Given the description of an element on the screen output the (x, y) to click on. 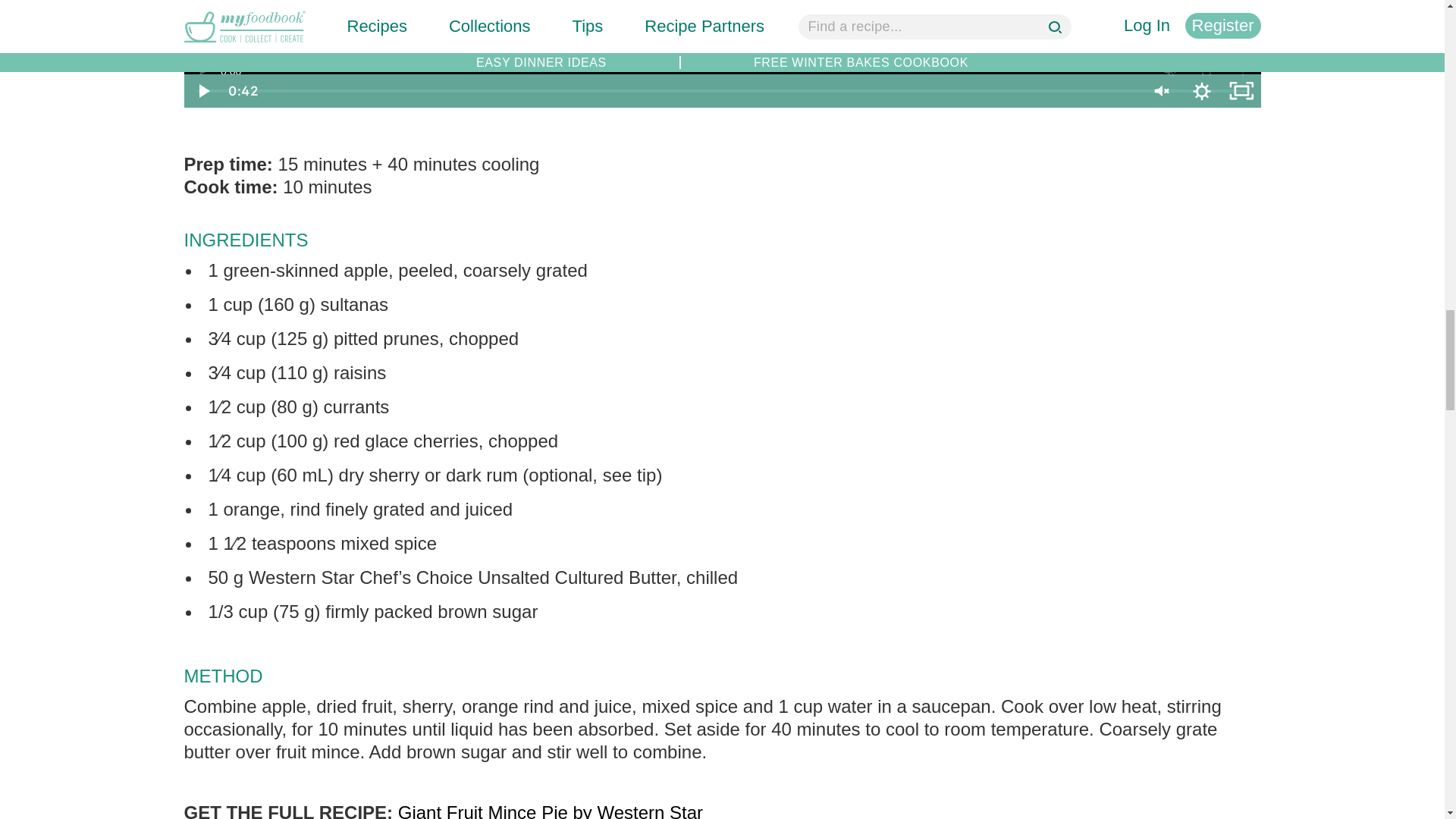
Show settings menu (1200, 90)
Play Video (202, 90)
Unmute (1160, 90)
View the Recipe for Giant Fruit Mince Pie (550, 810)
Fullscreen (1240, 90)
